Given the description of an element on the screen output the (x, y) to click on. 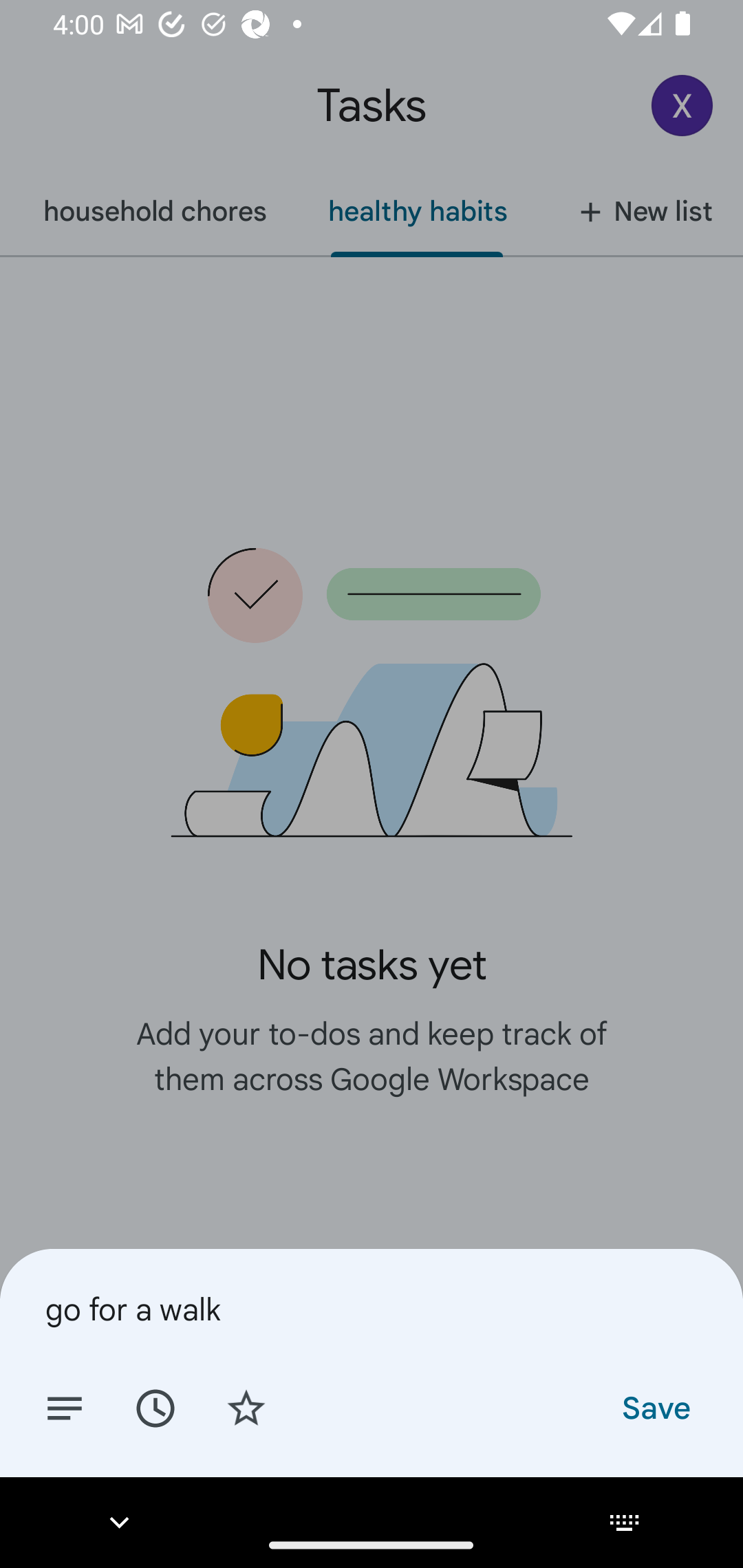
go for a walk (371, 1308)
Save (655, 1407)
Add details (64, 1407)
Set date/time (154, 1407)
Add star (245, 1407)
